Given the description of an element on the screen output the (x, y) to click on. 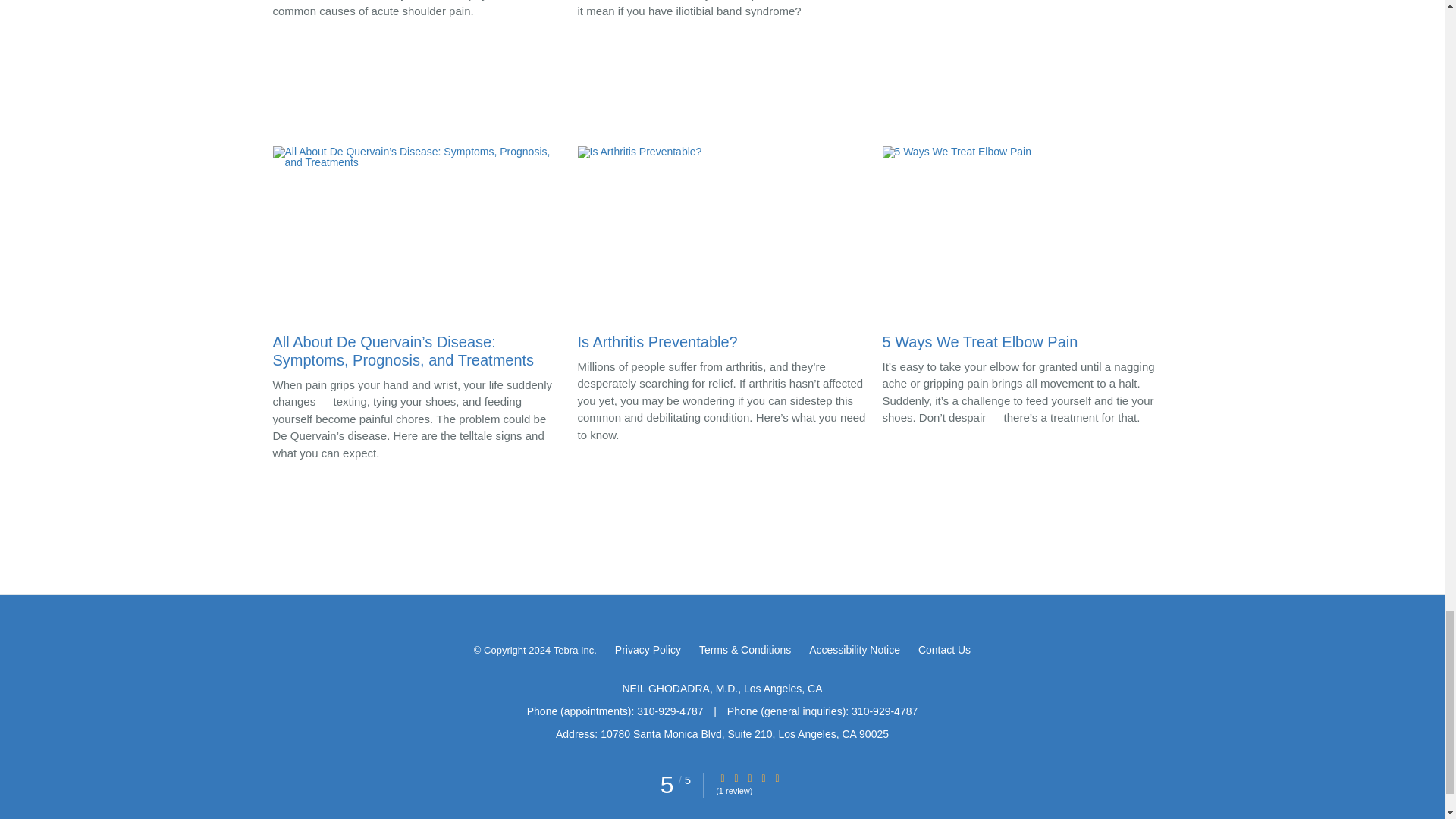
Star Rating (735, 778)
Star Rating (777, 778)
Star Rating (722, 778)
Star Rating (749, 778)
Star Rating (763, 778)
